Given the description of an element on the screen output the (x, y) to click on. 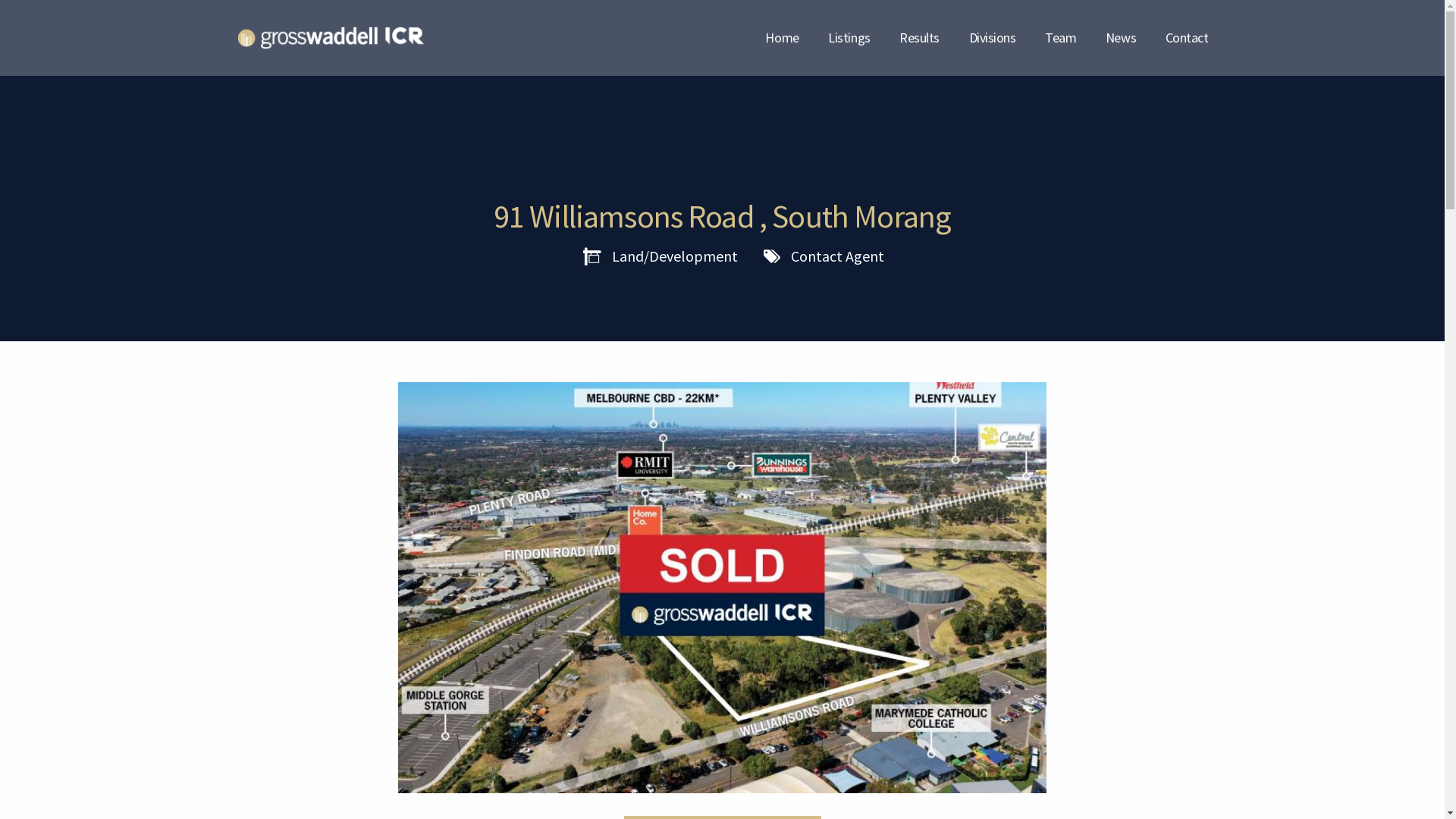
Home Element type: text (781, 37)
Divisions Element type: text (992, 37)
Listings Element type: text (848, 37)
Results Element type: text (919, 37)
News Element type: text (1120, 37)
Team Element type: text (1060, 37)
Contact Element type: text (1186, 37)
